Given the description of an element on the screen output the (x, y) to click on. 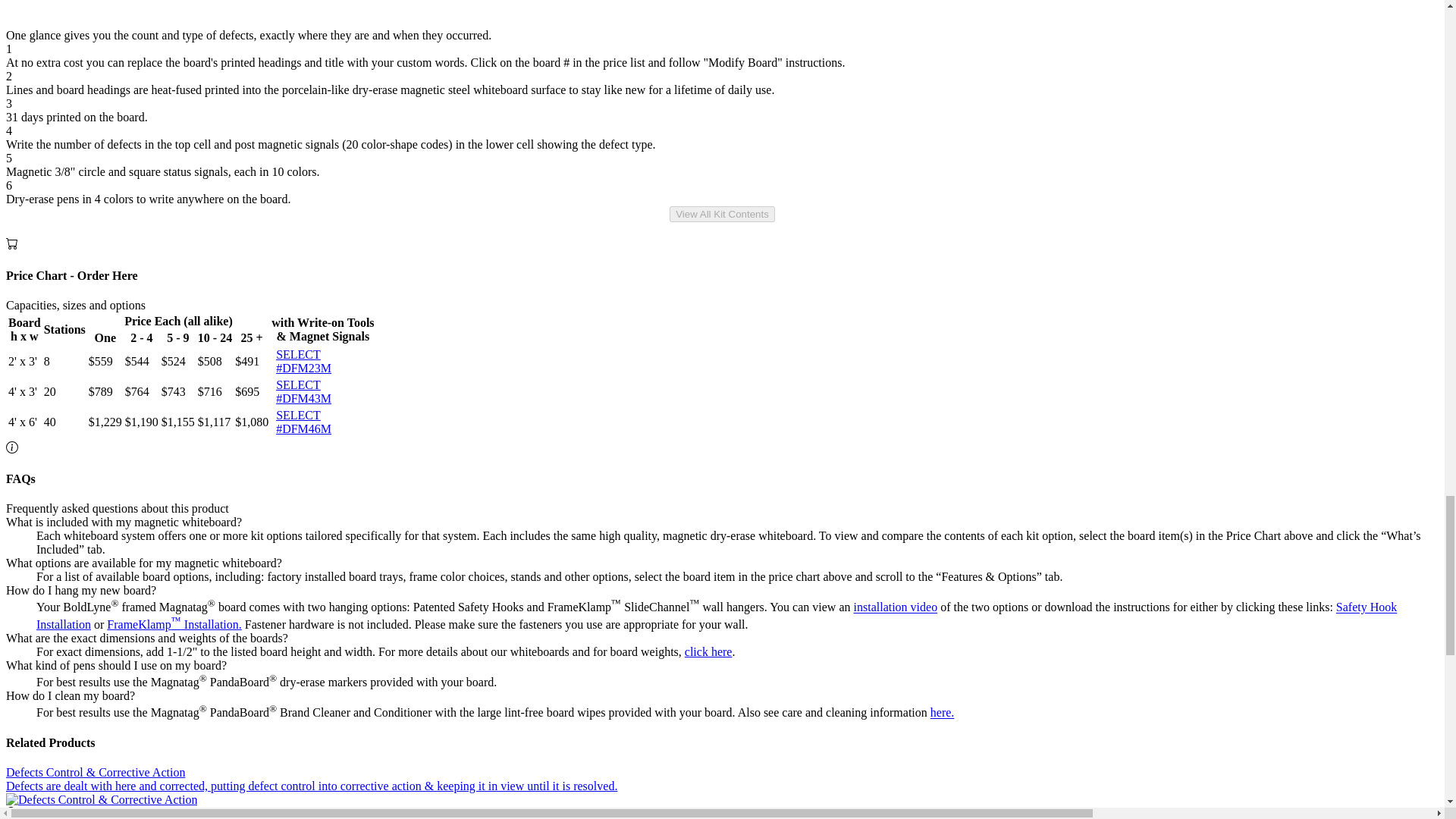
Safety Hook Installation (716, 615)
installation video (895, 607)
click here (708, 651)
View All Kit Contents (721, 213)
here. (942, 712)
